Given the description of an element on the screen output the (x, y) to click on. 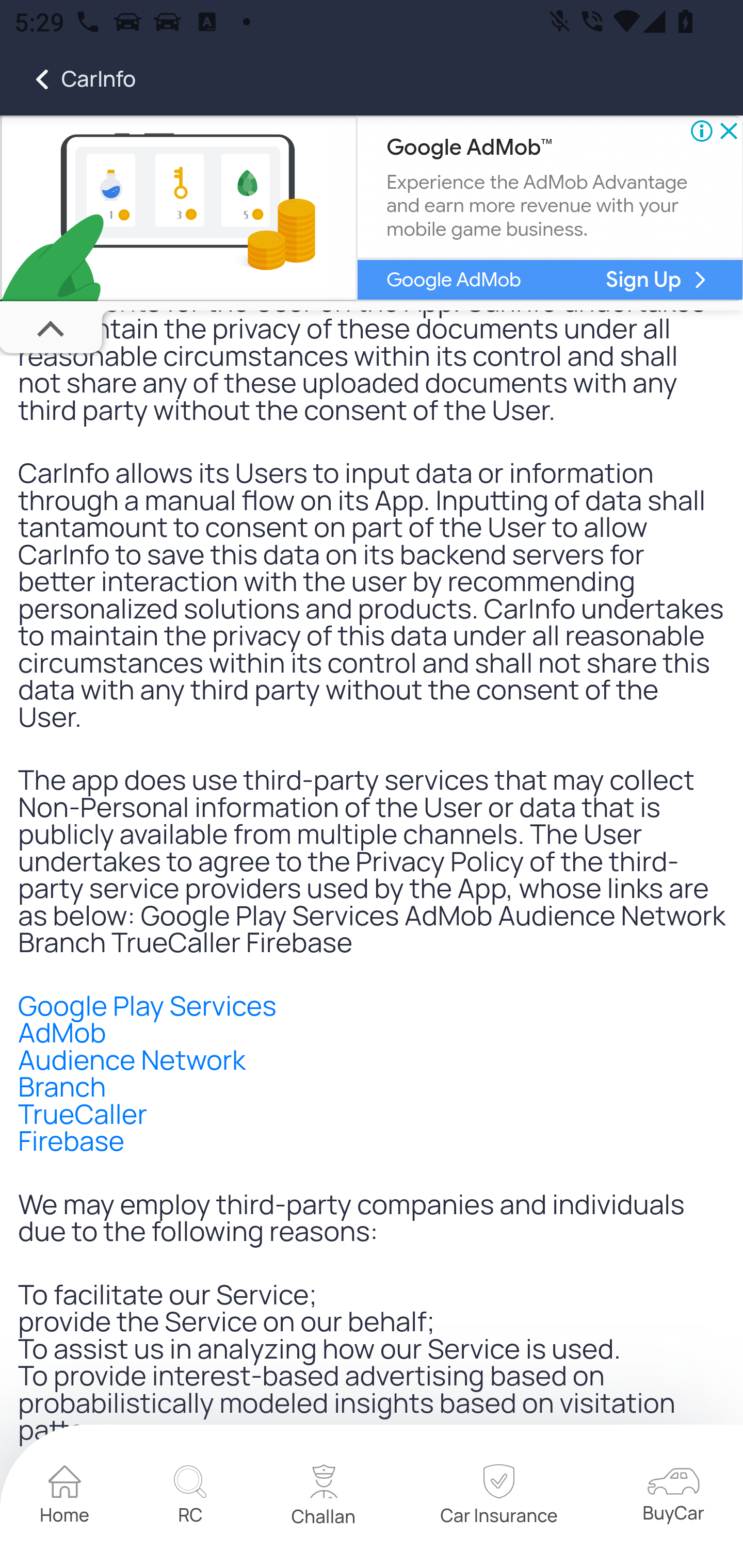
CarInfo (67, 79)
Google AdMob™ (468, 148)
Sign Up (643, 280)
Google AdMob (452, 280)
Google Play Services (147, 1005)
AdMob (61, 1032)
Audience Network (132, 1058)
Branch (61, 1086)
TrueCaller (82, 1113)
Firebase (71, 1140)
home Home home Home (64, 1497)
home RC home RC (190, 1497)
home Challan home Challan (323, 1497)
home Car Insurance home Car Insurance (497, 1497)
home BuyCar home BuyCar (672, 1497)
